Given the description of an element on the screen output the (x, y) to click on. 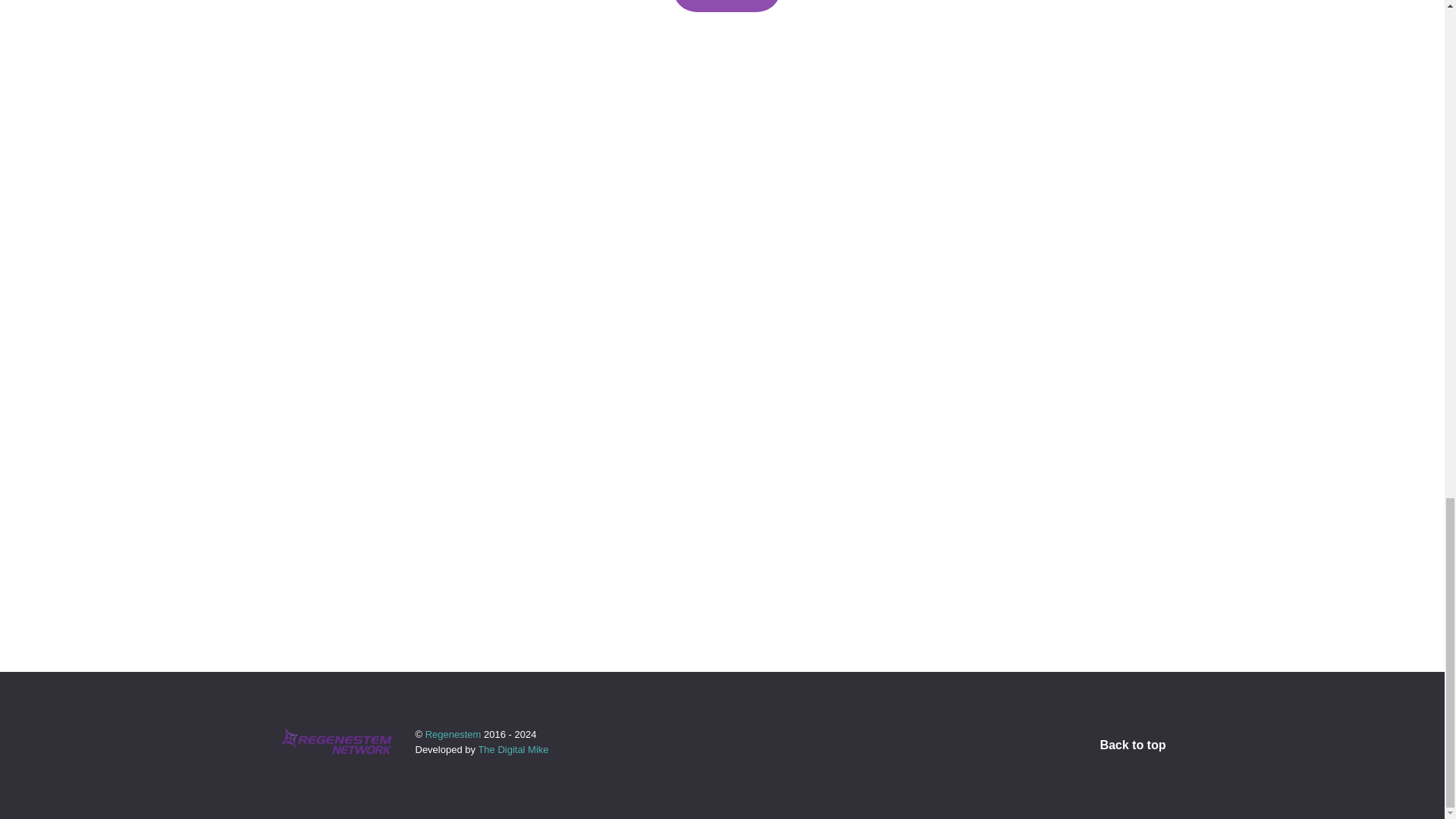
The Digital Mike (512, 749)
Regenestem (454, 734)
Back to top (1132, 744)
Back to top (1132, 744)
Regenestem (454, 734)
Know more (726, 6)
